Given the description of an element on the screen output the (x, y) to click on. 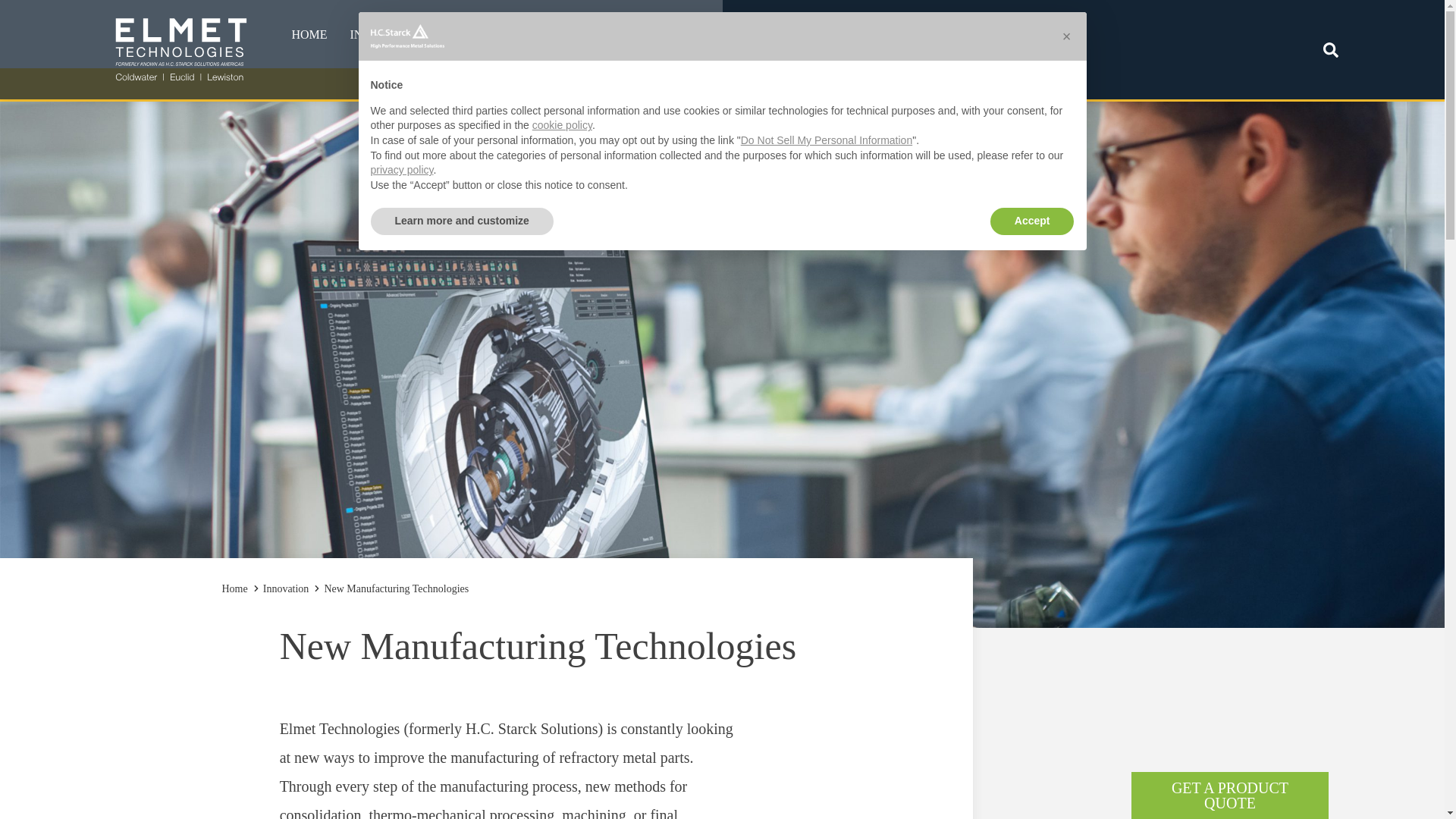
MEDICAL (449, 70)
MATERIALS (661, 34)
PRODUCTS BY INDUSTRY (526, 70)
ELECTRONICS (449, 69)
PRODUCTS BY FABRICATION (526, 72)
PRODUCTS BY APPLICATION (526, 71)
CAREERS (866, 34)
INNOVATION (960, 34)
PRODUCTS BY MATERIAL (526, 70)
